Given the description of an element on the screen output the (x, y) to click on. 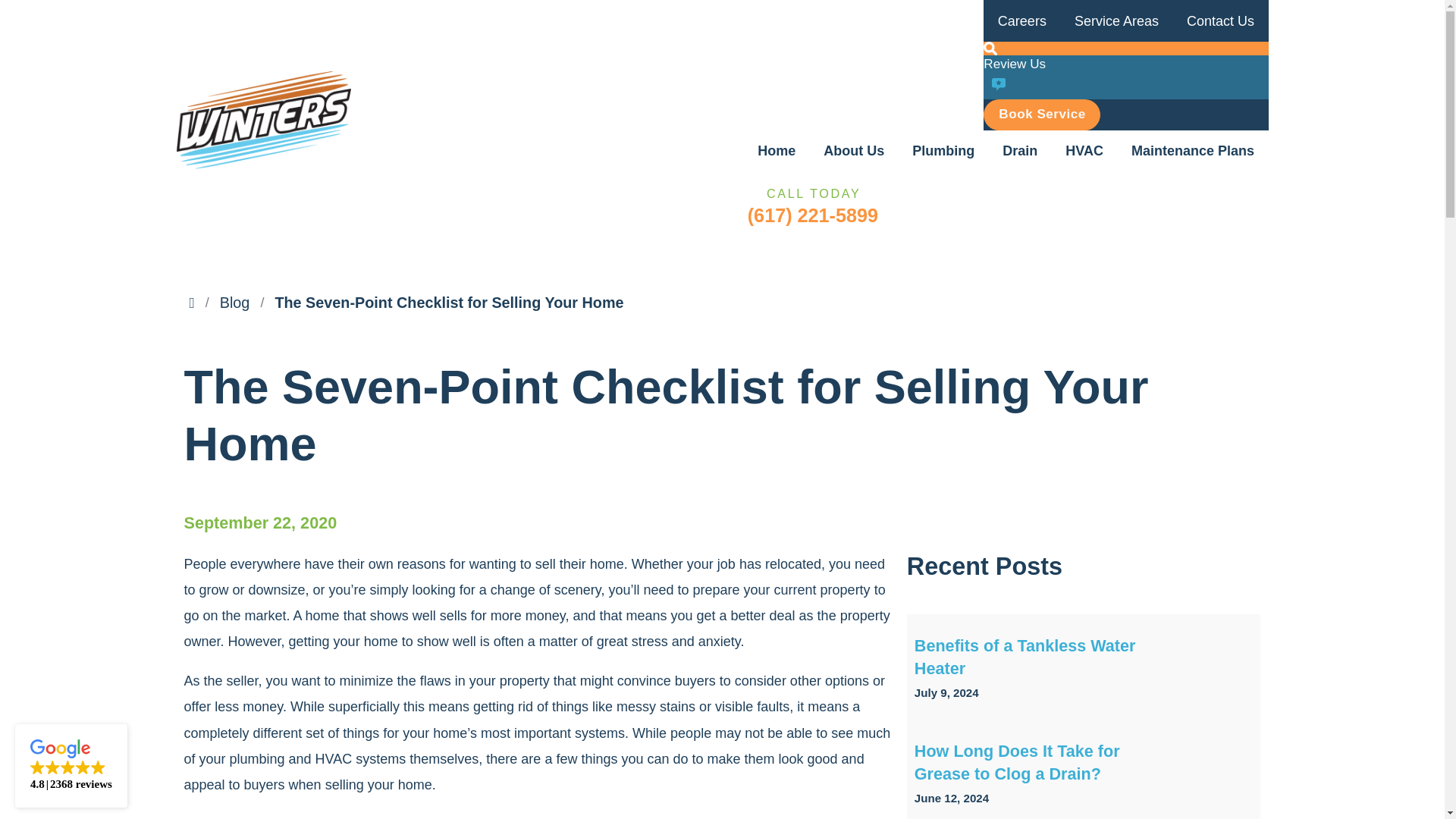
Review Us (1126, 77)
Careers (1021, 20)
Search our site (990, 48)
Drain (1019, 150)
HVAC (1084, 150)
Plumbing (943, 150)
About Us (853, 150)
Service Areas (1115, 20)
You Are Here (449, 302)
Contact Us (1220, 20)
Book Service (1042, 114)
Home (776, 150)
